Given the description of an element on the screen output the (x, y) to click on. 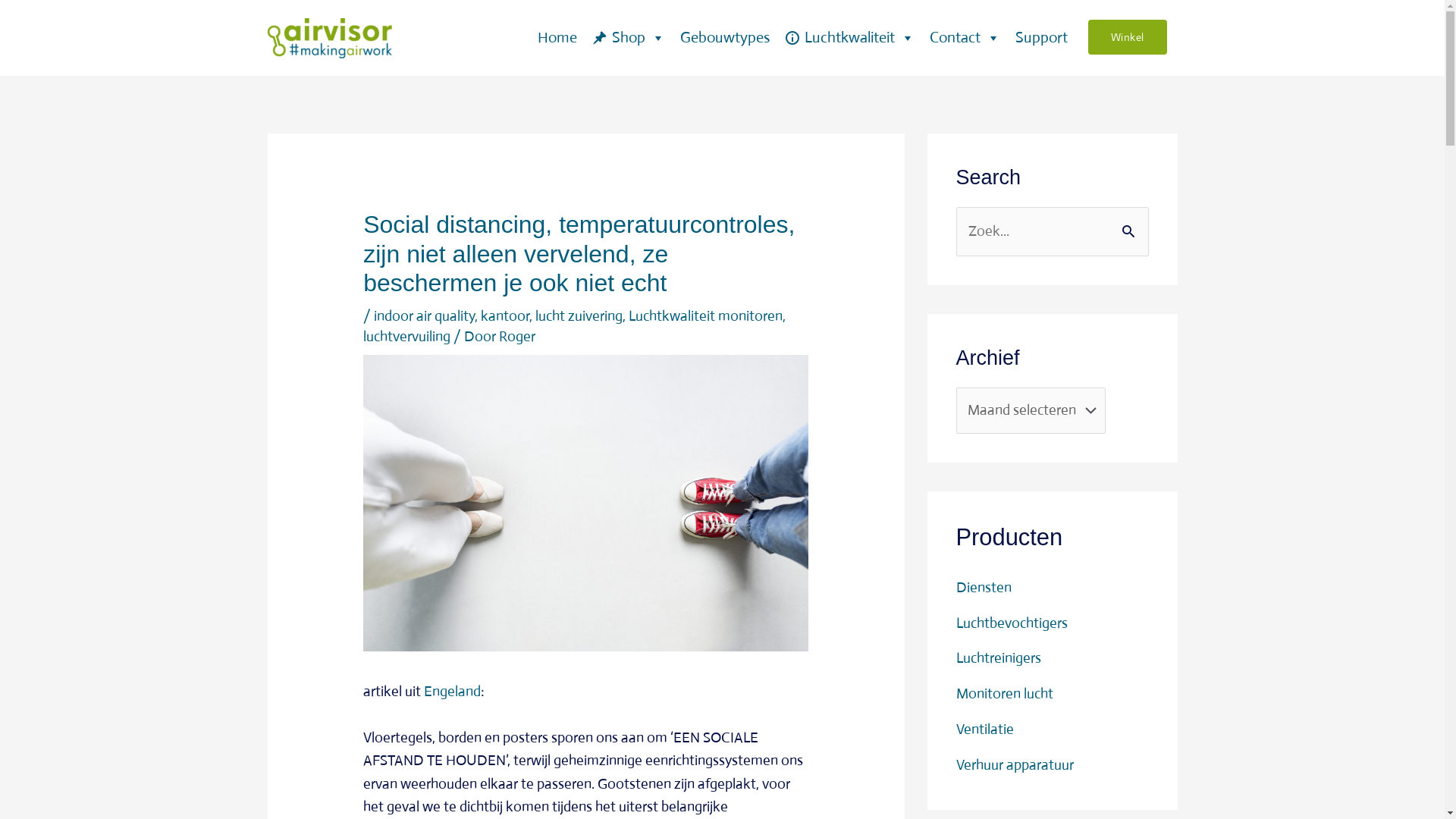
Luchtkwaliteit monitoren Element type: text (705, 315)
Luchtreinigers Element type: text (997, 657)
Contact Element type: text (964, 37)
kantoor Element type: text (504, 315)
Home Element type: text (556, 37)
Verhuur apparatuur Element type: text (1014, 764)
Engeland Element type: text (451, 690)
Luchtbevochtigers Element type: text (1010, 622)
Shop Element type: text (627, 37)
Diensten Element type: text (982, 587)
indoor air quality Element type: text (423, 315)
Support Element type: text (1040, 37)
luchtvervuiling Element type: text (406, 336)
Zoeken Element type: text (1131, 224)
Luchtkwaliteit Element type: text (848, 37)
Monitoren lucht Element type: text (1003, 693)
lucht zuivering Element type: text (578, 315)
Gebouwtypes Element type: text (723, 37)
Winkel Element type: text (1126, 36)
Ventilatie Element type: text (984, 728)
Roger Element type: text (516, 336)
